Given the description of an element on the screen output the (x, y) to click on. 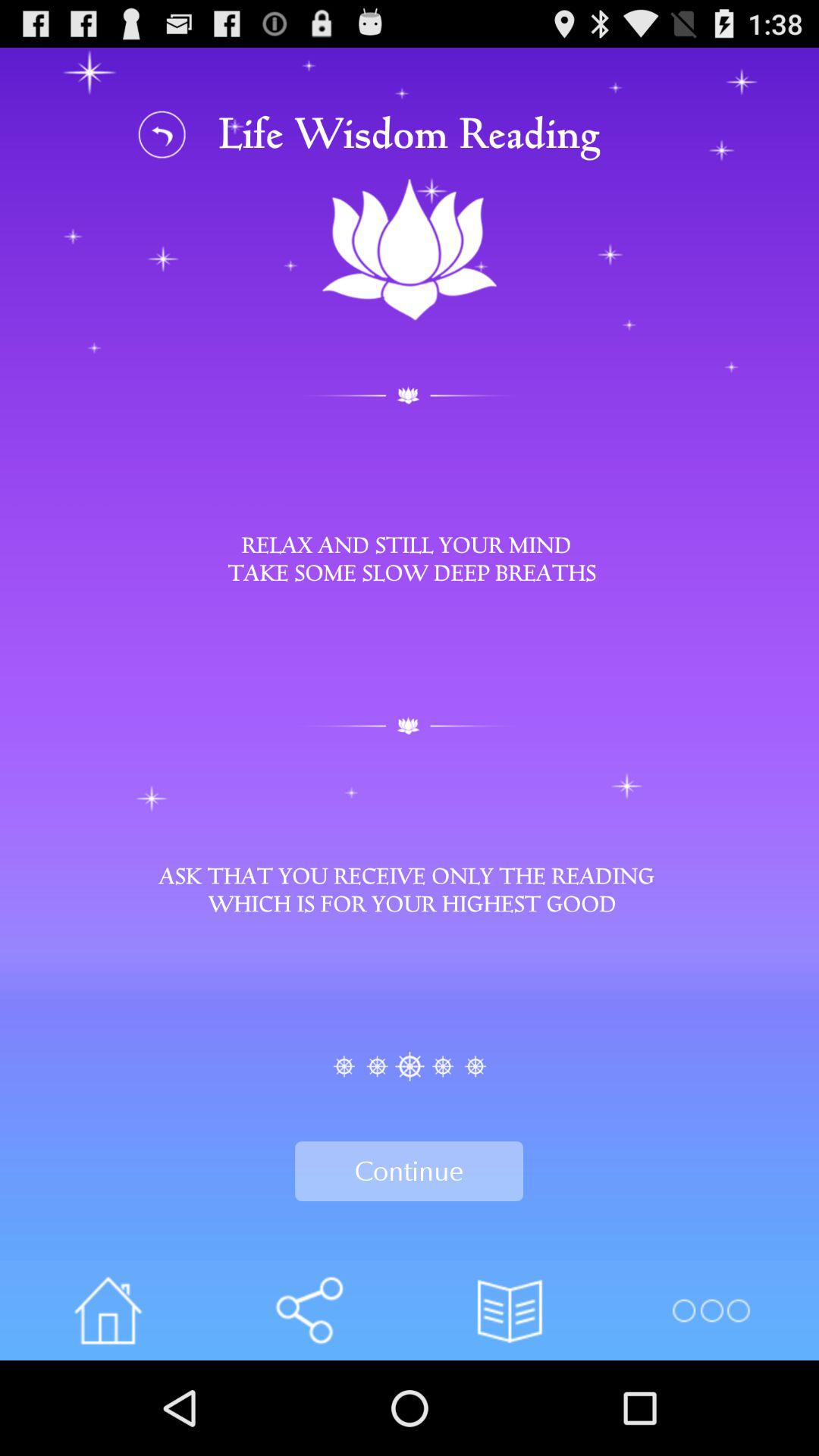
click the button on the right next to the share button on the web page (509, 1310)
click the share button on the web page (308, 1310)
image below the text life wisdom reading (409, 250)
click on the icon left of share icon (108, 1310)
select the image above the button continue on the web page (409, 1066)
